Given the description of an element on the screen output the (x, y) to click on. 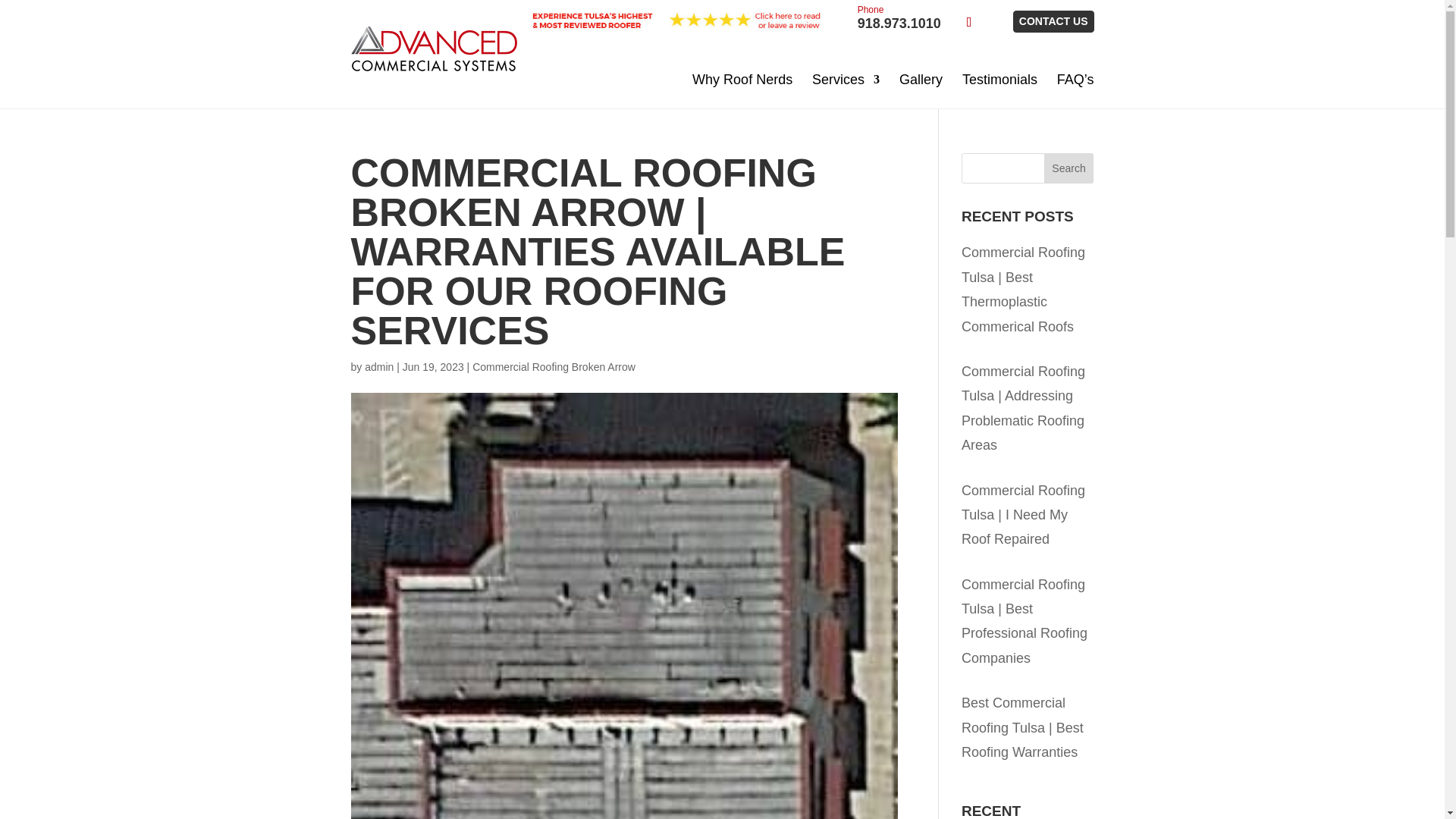
Commercial Roofing Broken Arrow (552, 367)
Search (1068, 168)
Services (845, 79)
Search (898, 18)
Gallery (1068, 168)
Posts by admin (920, 79)
CONTACT US (379, 367)
Why Roof Nerds (1053, 21)
Testimonials (742, 79)
